Given the description of an element on the screen output the (x, y) to click on. 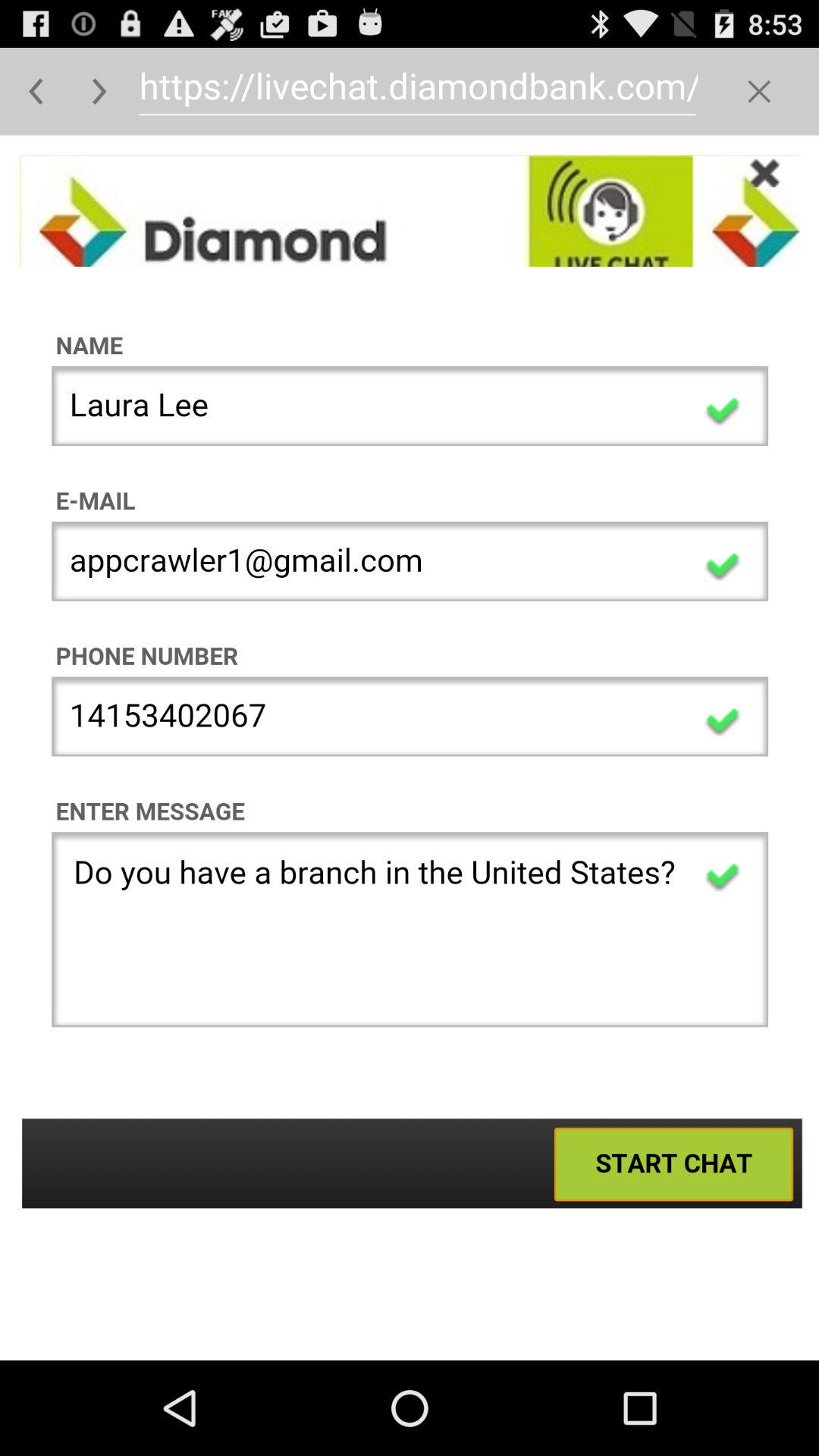
address page (409, 747)
